Given the description of an element on the screen output the (x, y) to click on. 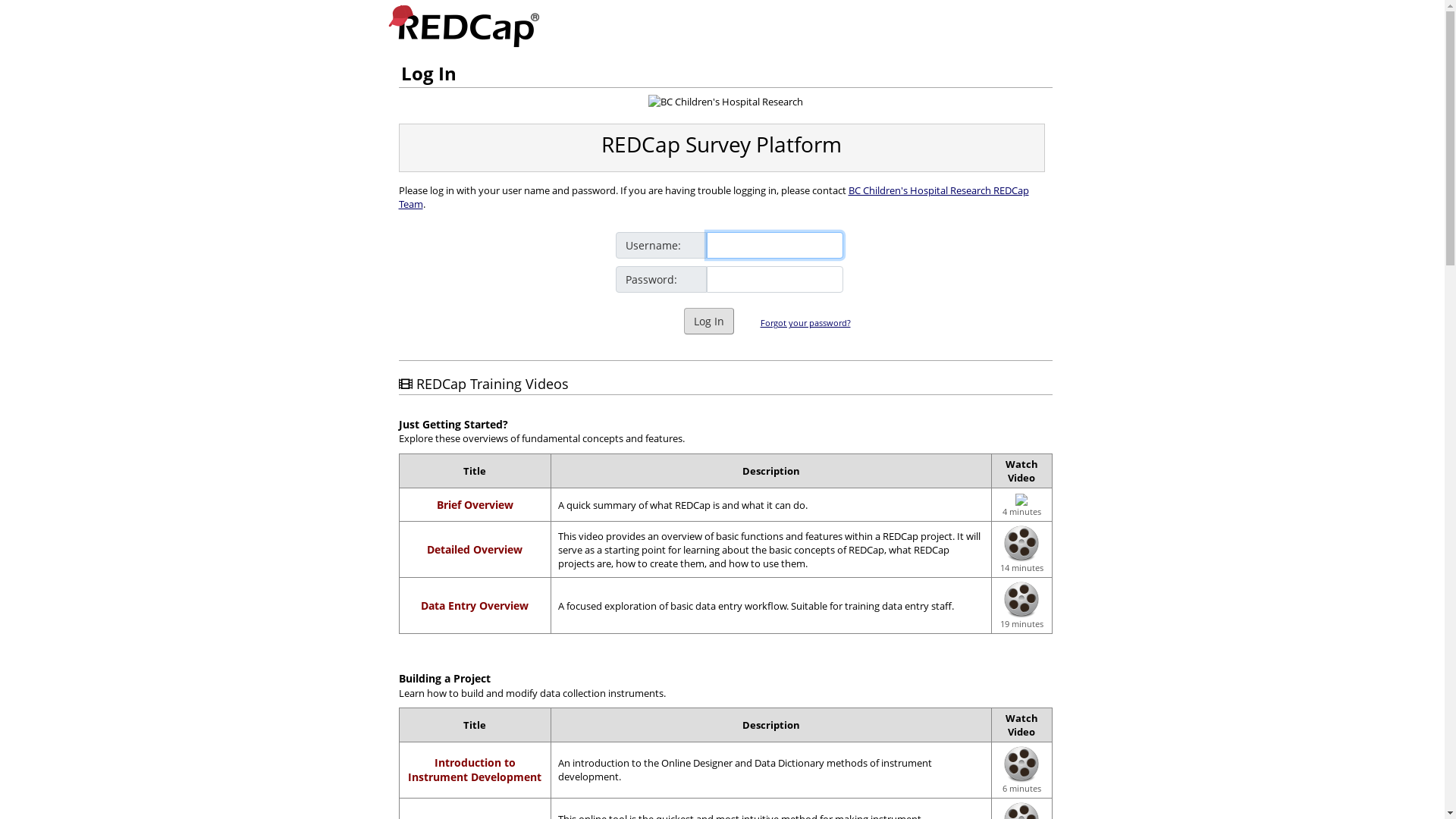
Forgot your password? Element type: text (804, 322)
BC Children's Hospital Research REDCap Team Element type: text (713, 196)
Log In Element type: text (709, 320)
BC Children's Hospital Research Element type: hover (724, 101)
